Given the description of an element on the screen output the (x, y) to click on. 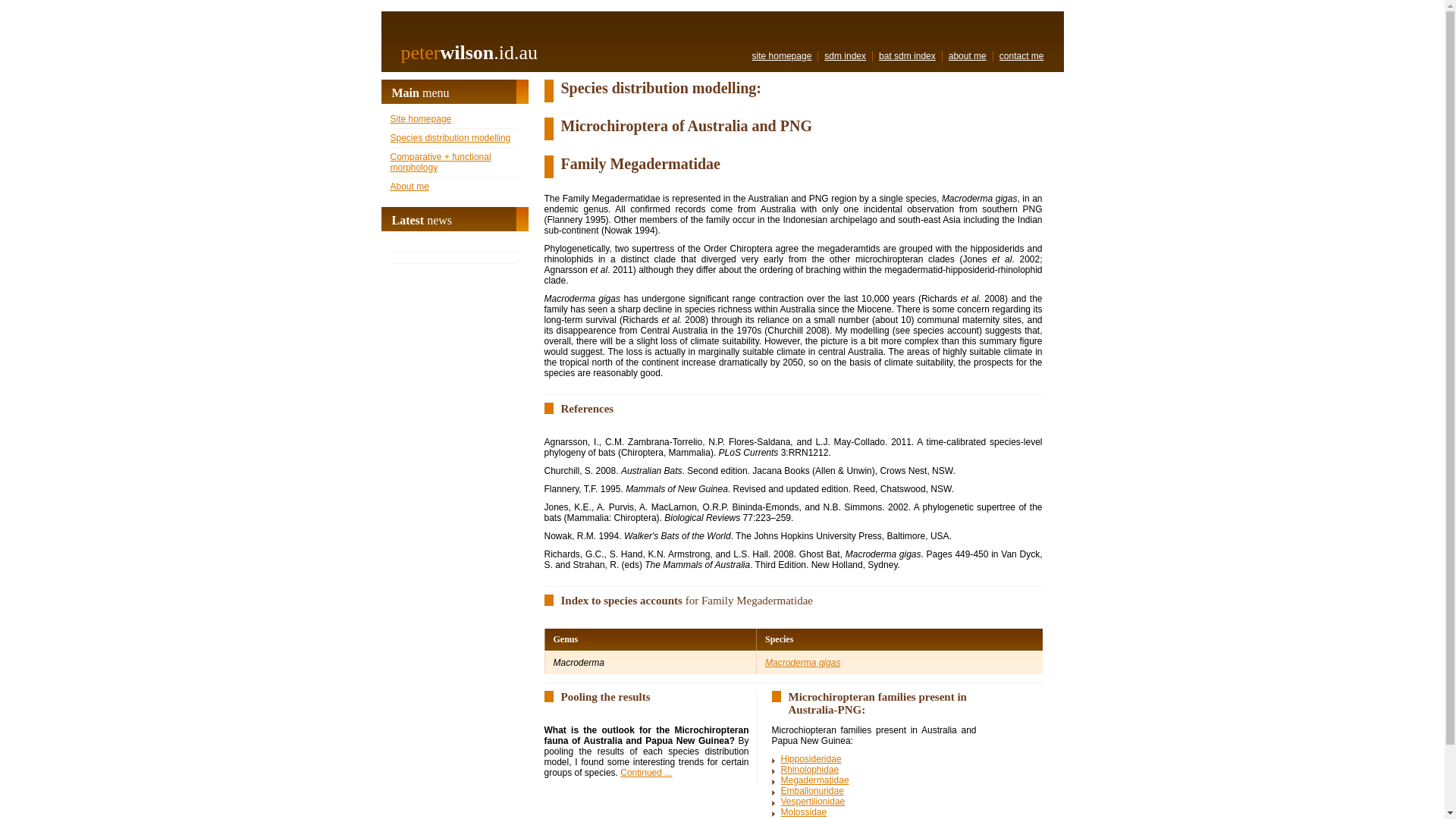
site homepage Element type: text (782, 55)
Macroderma gigas Element type: text (802, 662)
Vespertilionidae Element type: text (813, 801)
Megadermatidae Element type: text (815, 780)
Hipposideridae Element type: text (811, 758)
bat sdm index Element type: text (906, 55)
Emballonuridae Element type: text (812, 790)
Site homepage Element type: text (420, 118)
Comparative + functional morphology Element type: text (439, 161)
contact me Element type: text (1021, 55)
About me Element type: text (408, 186)
Rhinolophidae Element type: text (810, 769)
Species distribution modelling Element type: text (449, 137)
Molossidae Element type: text (804, 811)
sdm index Element type: text (845, 55)
about me Element type: text (967, 55)
Continued ... Element type: text (645, 772)
